Given the description of an element on the screen output the (x, y) to click on. 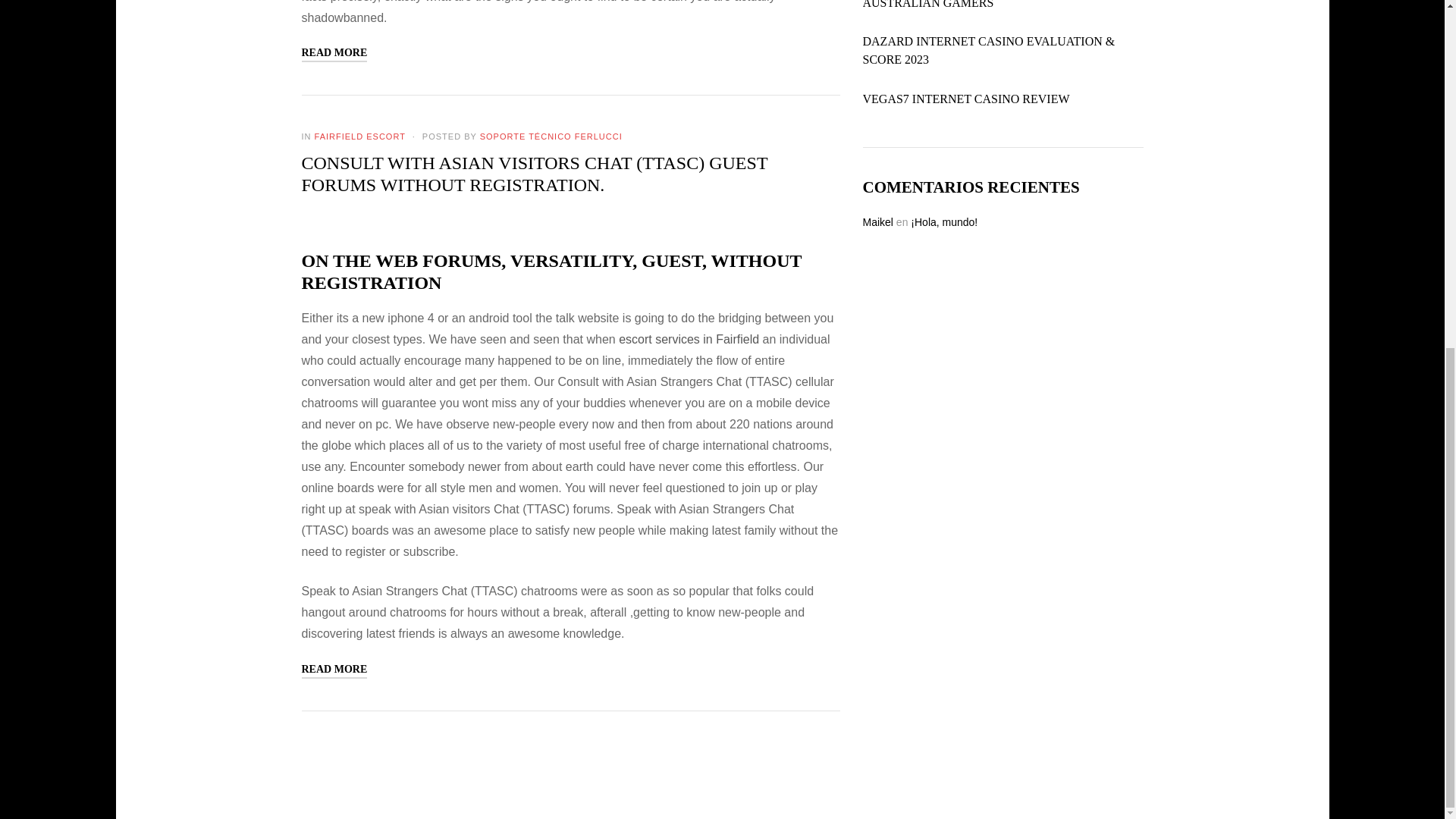
FAIRFIELD ESCORT (360, 135)
READ MORE (334, 53)
escort services in Fairfield (688, 338)
READ MORE (334, 669)
